Given the description of an element on the screen output the (x, y) to click on. 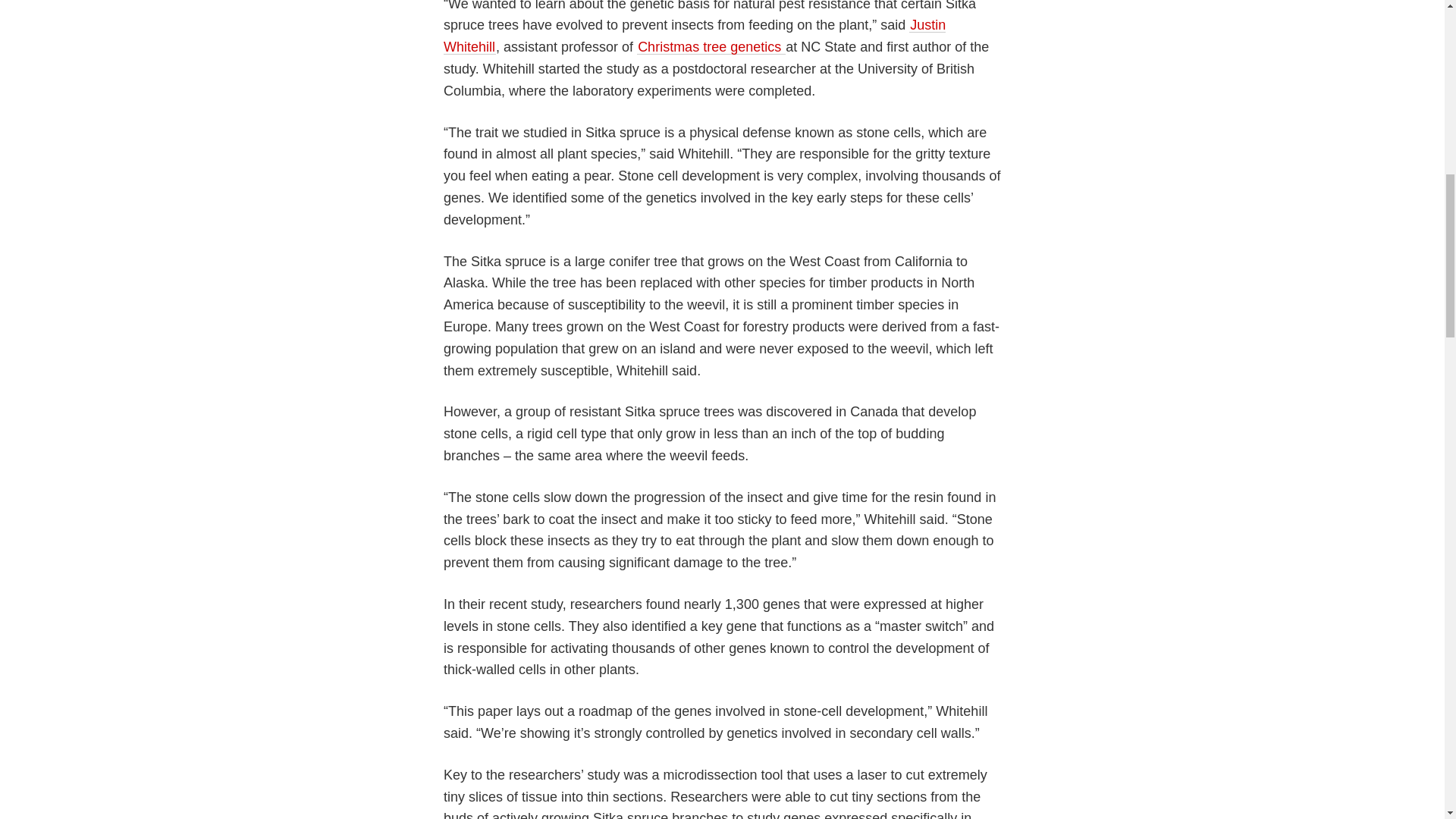
Justin Whitehill (694, 35)
Christmas tree genetics (711, 46)
